Given the description of an element on the screen output the (x, y) to click on. 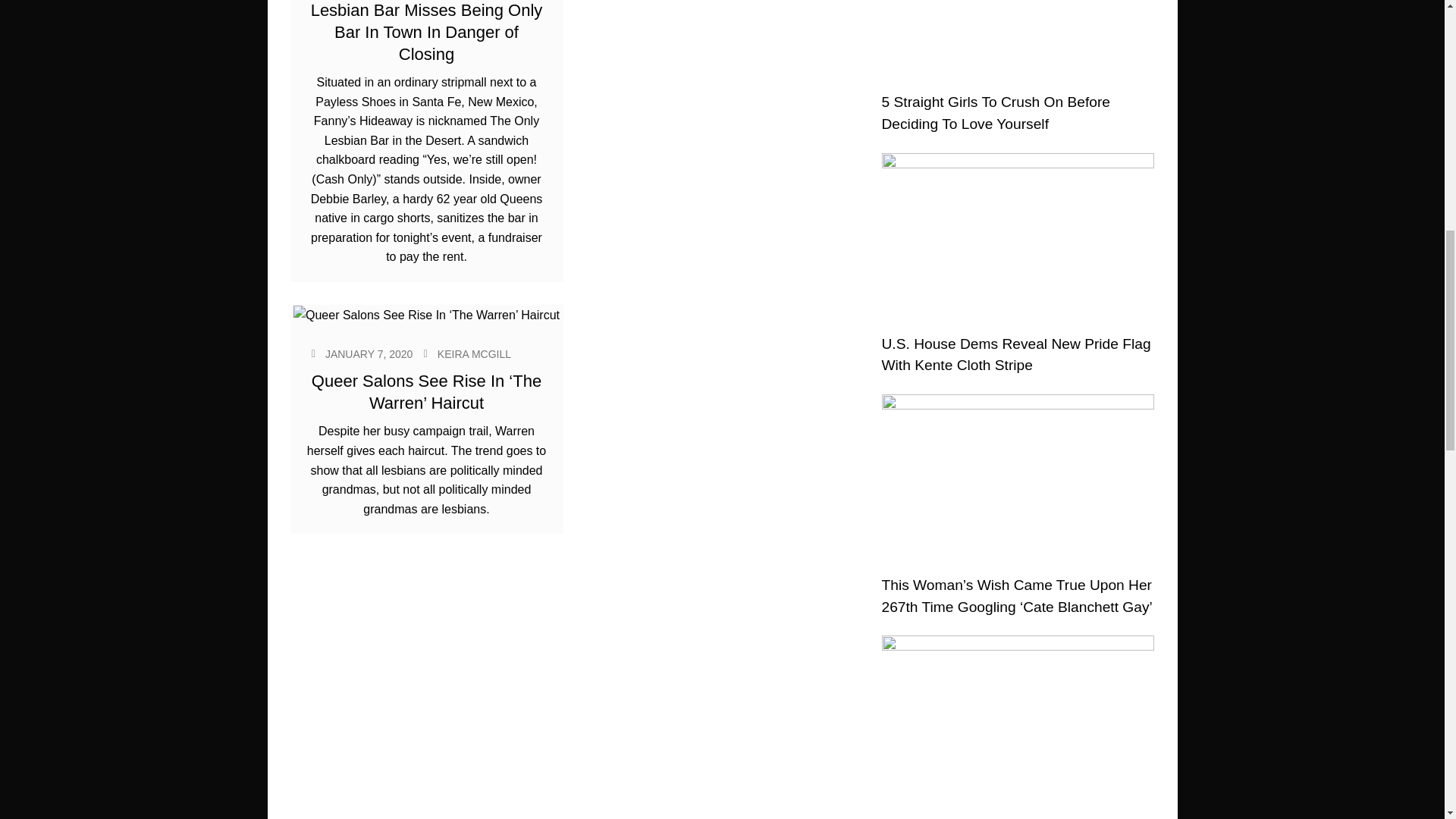
JANUARY 7, 2020 (368, 354)
KEIRA MCGILL (474, 354)
